Given the description of an element on the screen output the (x, y) to click on. 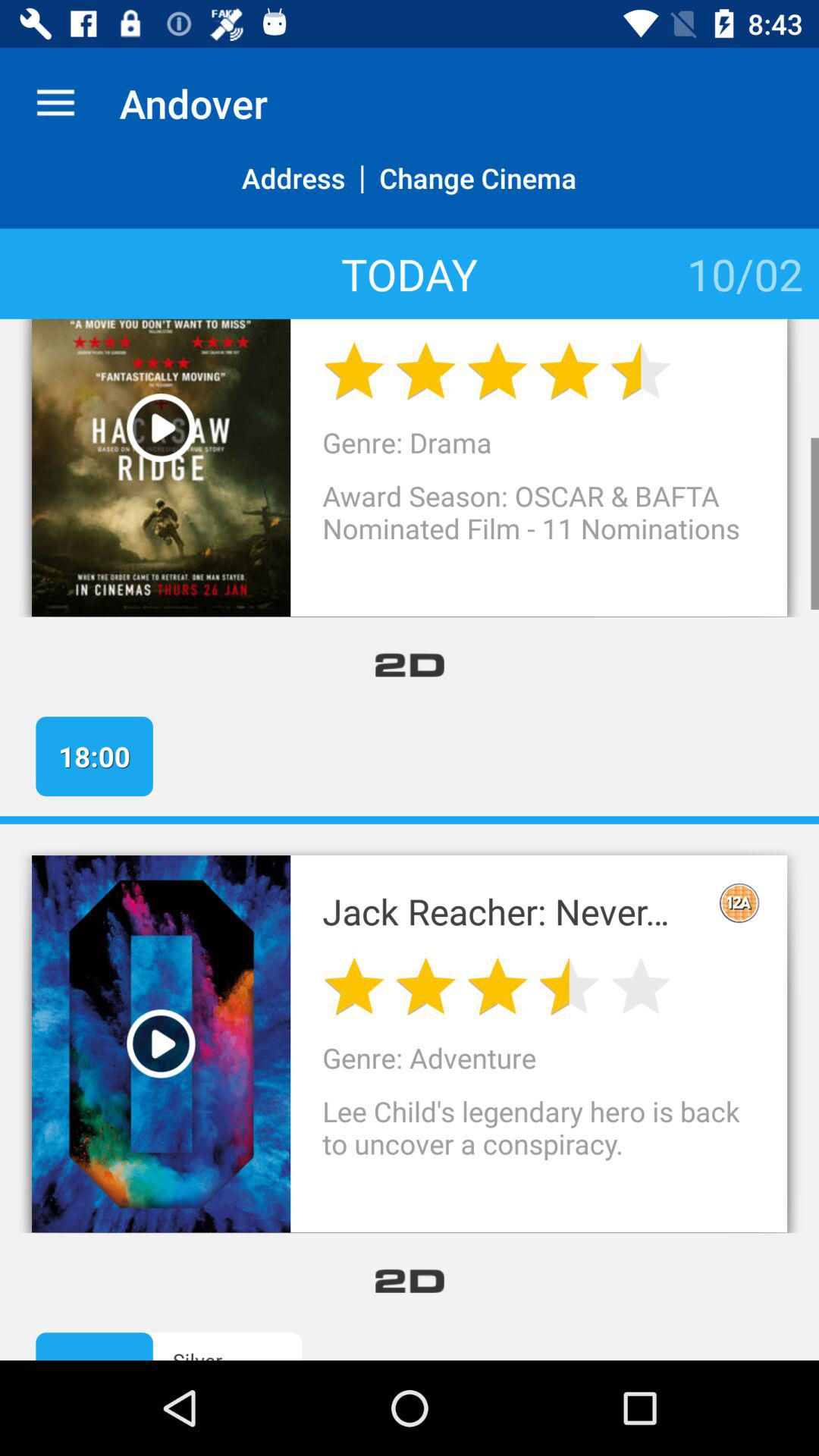
turn on the hacksaw ridge (510, 319)
